Given the description of an element on the screen output the (x, y) to click on. 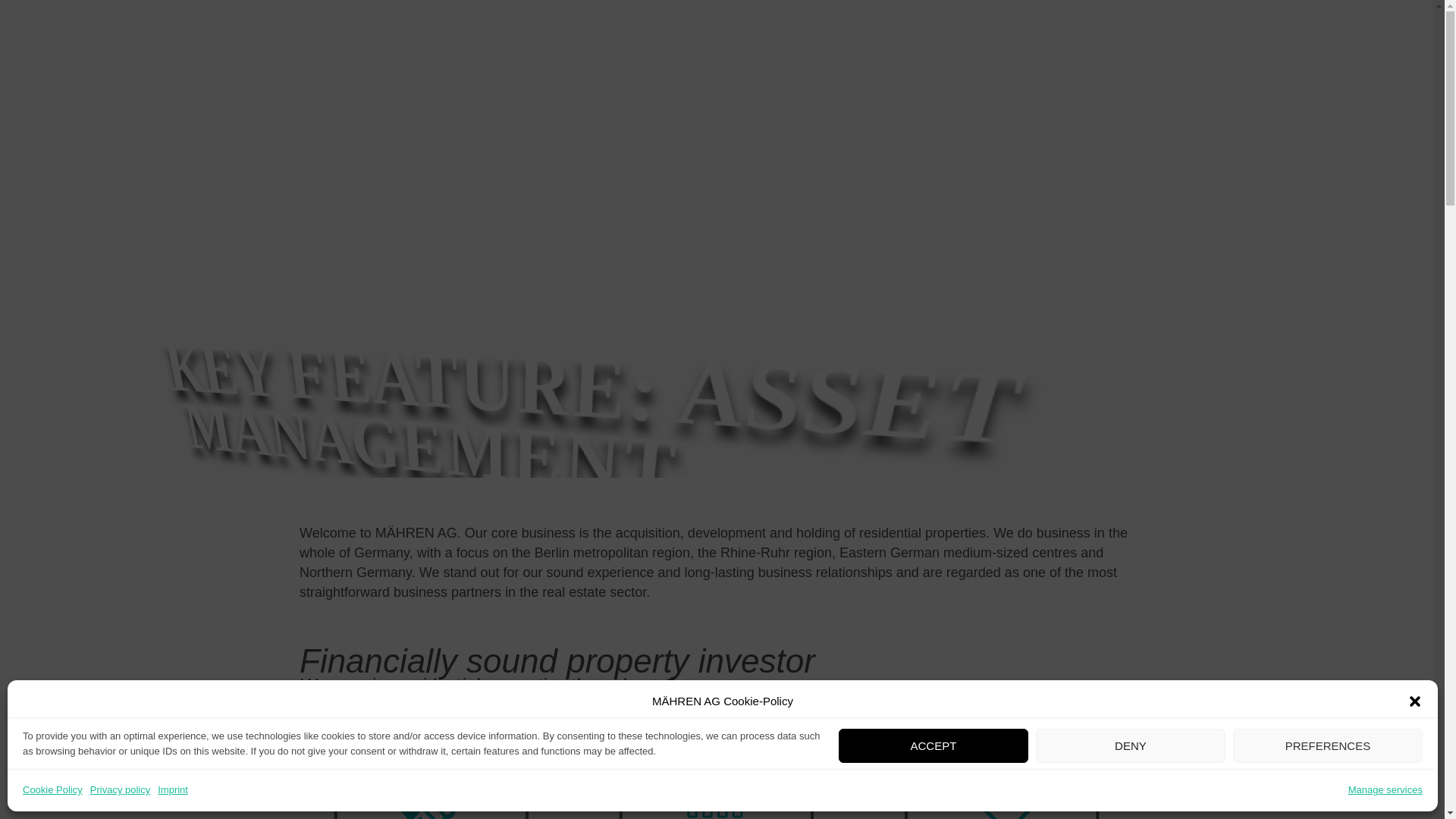
Imprint (172, 790)
Manage services (1385, 790)
Credentials (1057, 30)
Contact (1332, 30)
Team (983, 30)
PREFERENCES (1327, 745)
DE (1388, 30)
ACCEPT (932, 745)
Privacy policy (119, 790)
Real Estate Purchase (879, 30)
Company (1142, 30)
DENY (1130, 745)
Cookie Policy (52, 790)
